Given the description of an element on the screen output the (x, y) to click on. 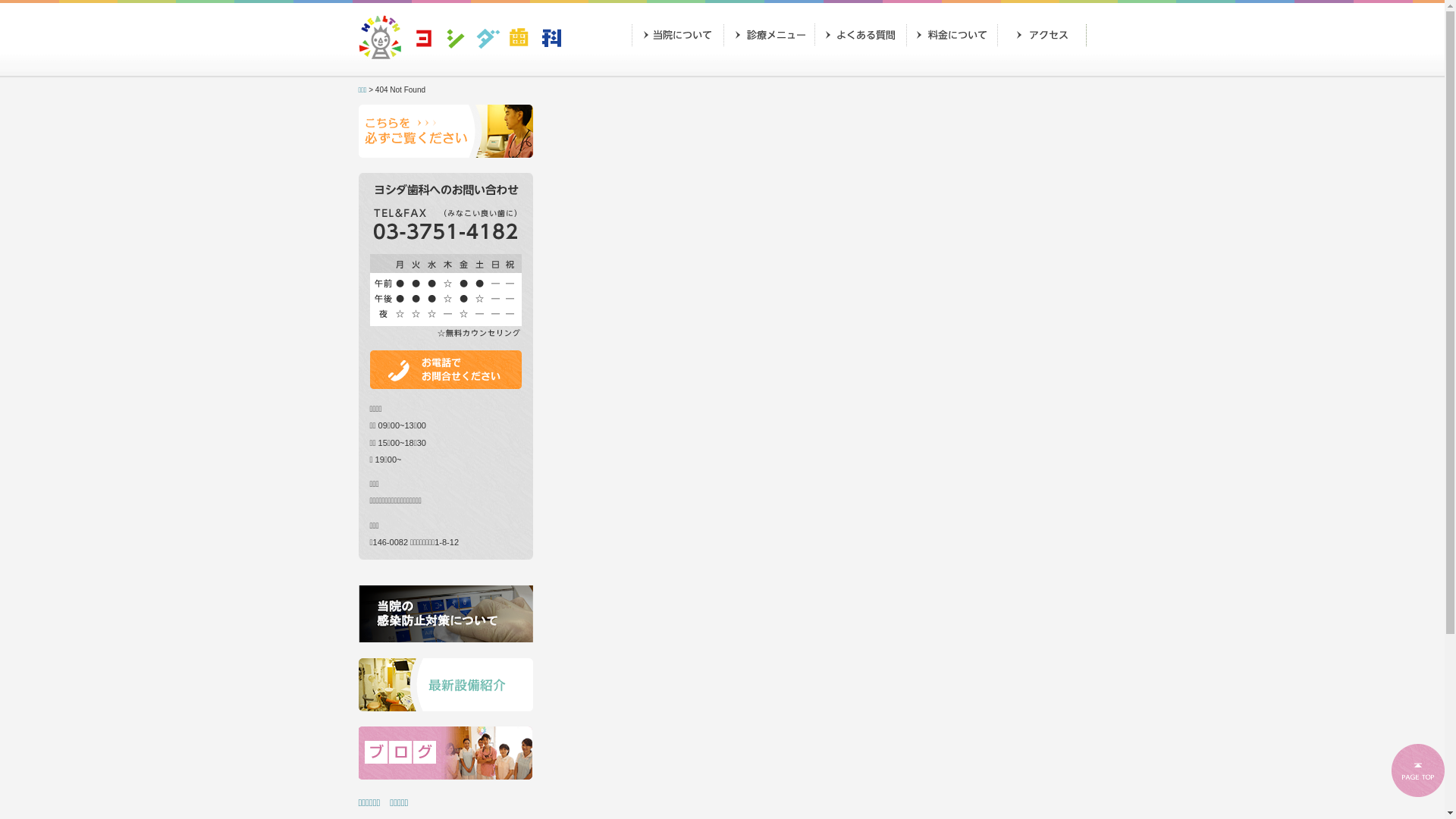
pagetop Element type: text (1417, 770)
